Given the description of an element on the screen output the (x, y) to click on. 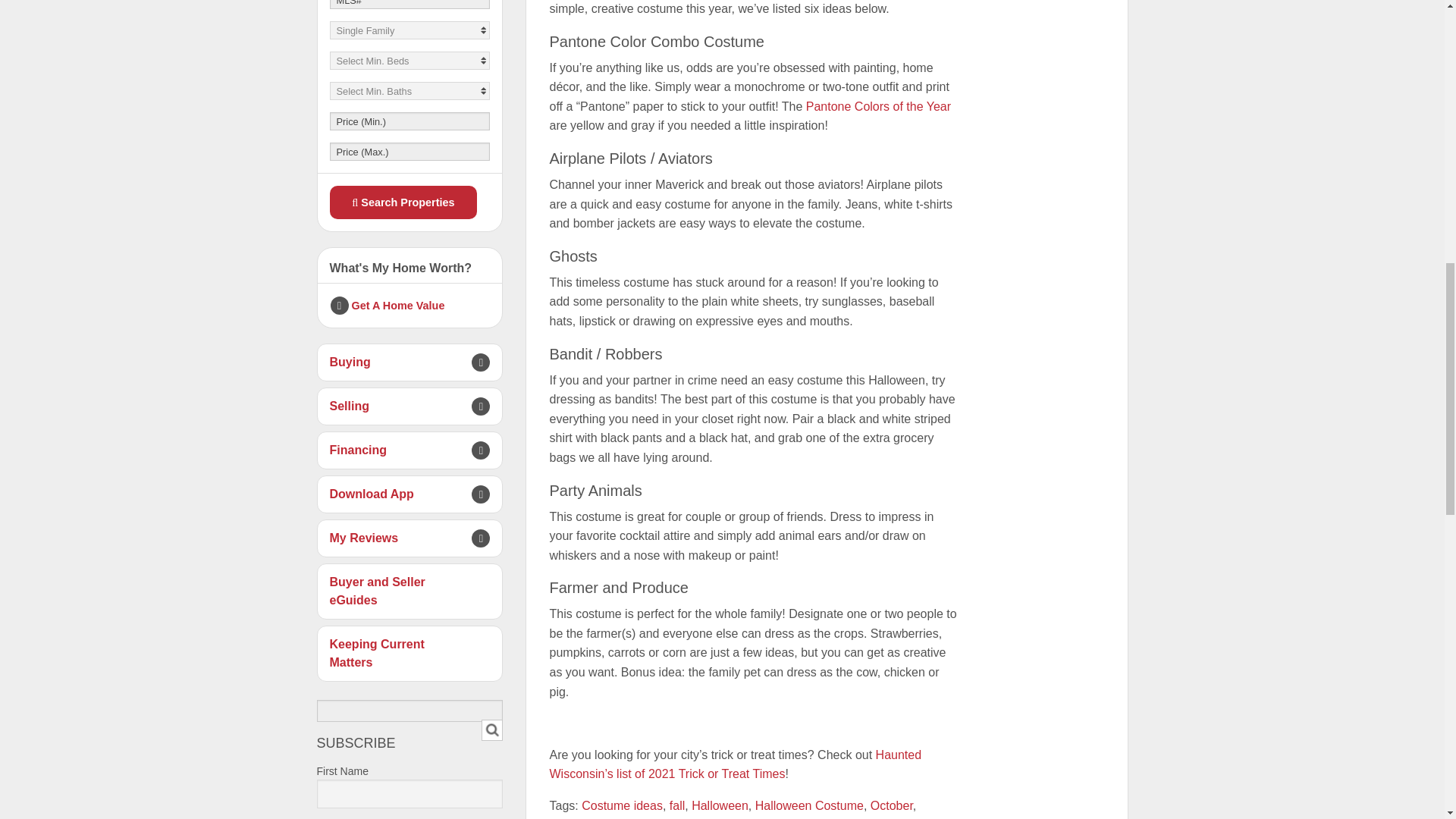
fall (676, 805)
Pantone Colors of the Year (878, 106)
Halloween (719, 805)
Halloween Costume (809, 805)
Search (491, 729)
October (891, 805)
Costume ideas (621, 805)
